Given the description of an element on the screen output the (x, y) to click on. 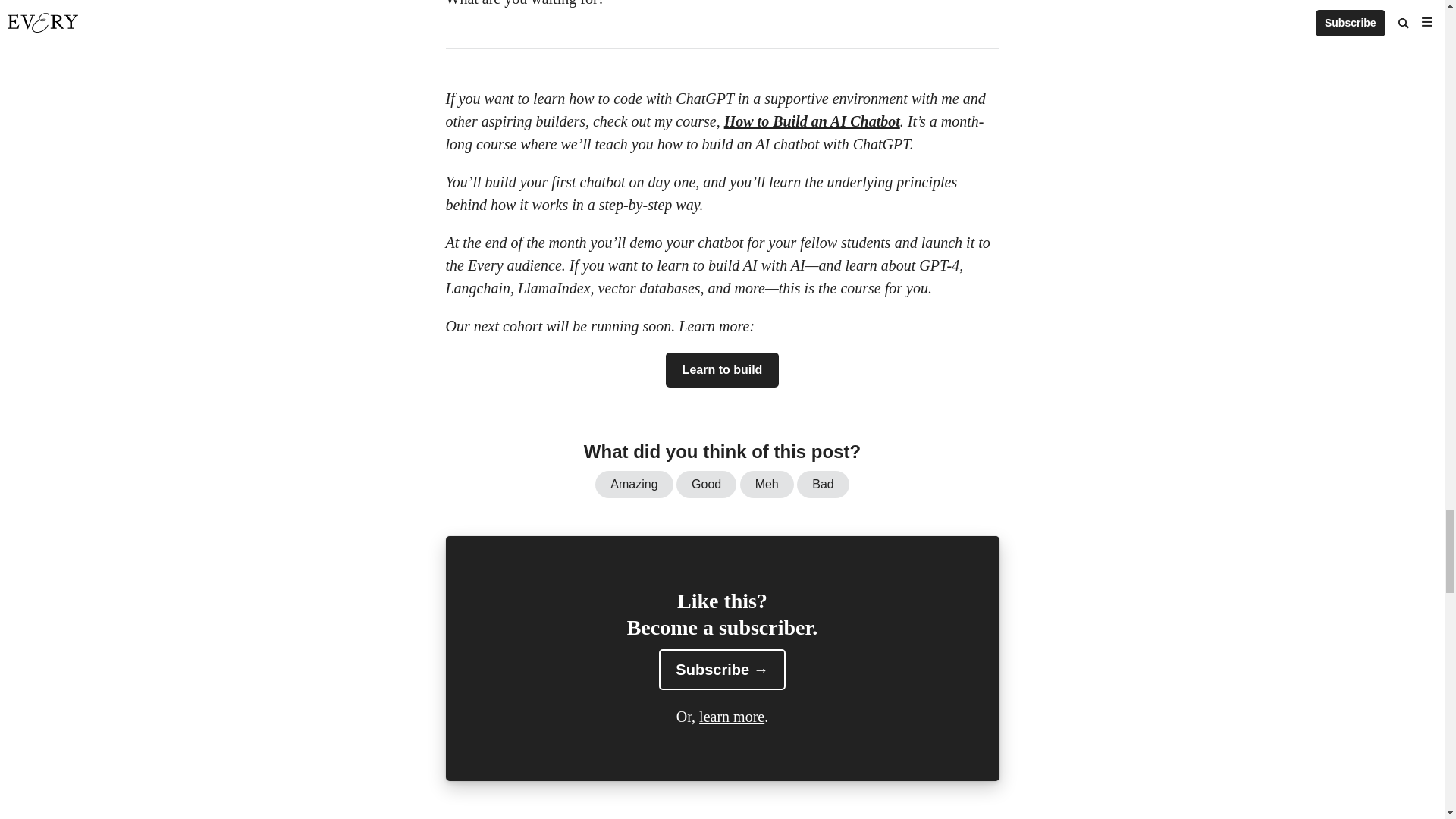
Bad (822, 483)
Learn to build (721, 369)
learn more (731, 716)
Meh (766, 483)
How to Build an AI Chatbot (811, 121)
Amazing (633, 483)
Good (706, 483)
